Given the description of an element on the screen output the (x, y) to click on. 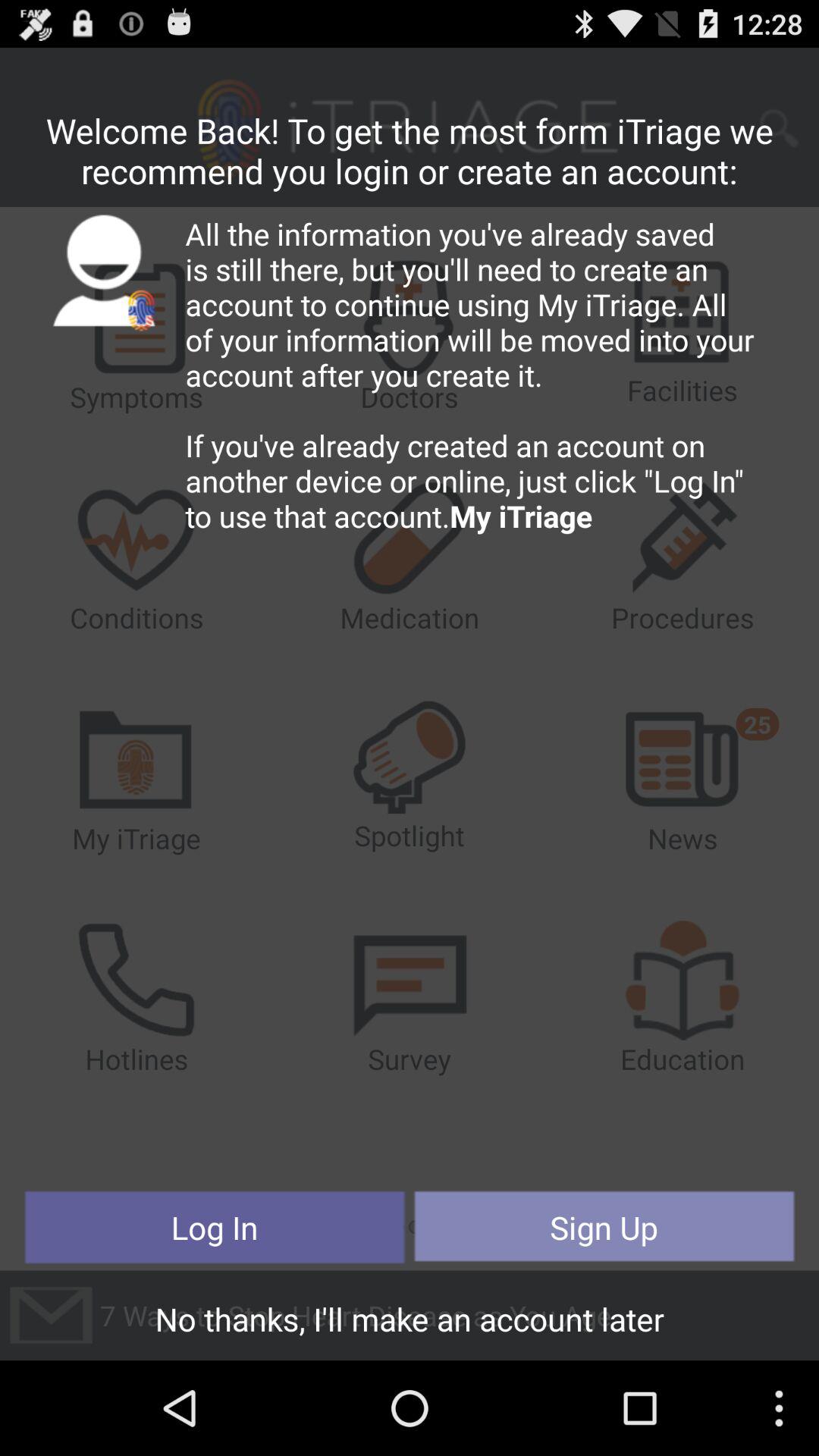
press the button next to log in (604, 1227)
